Given the description of an element on the screen output the (x, y) to click on. 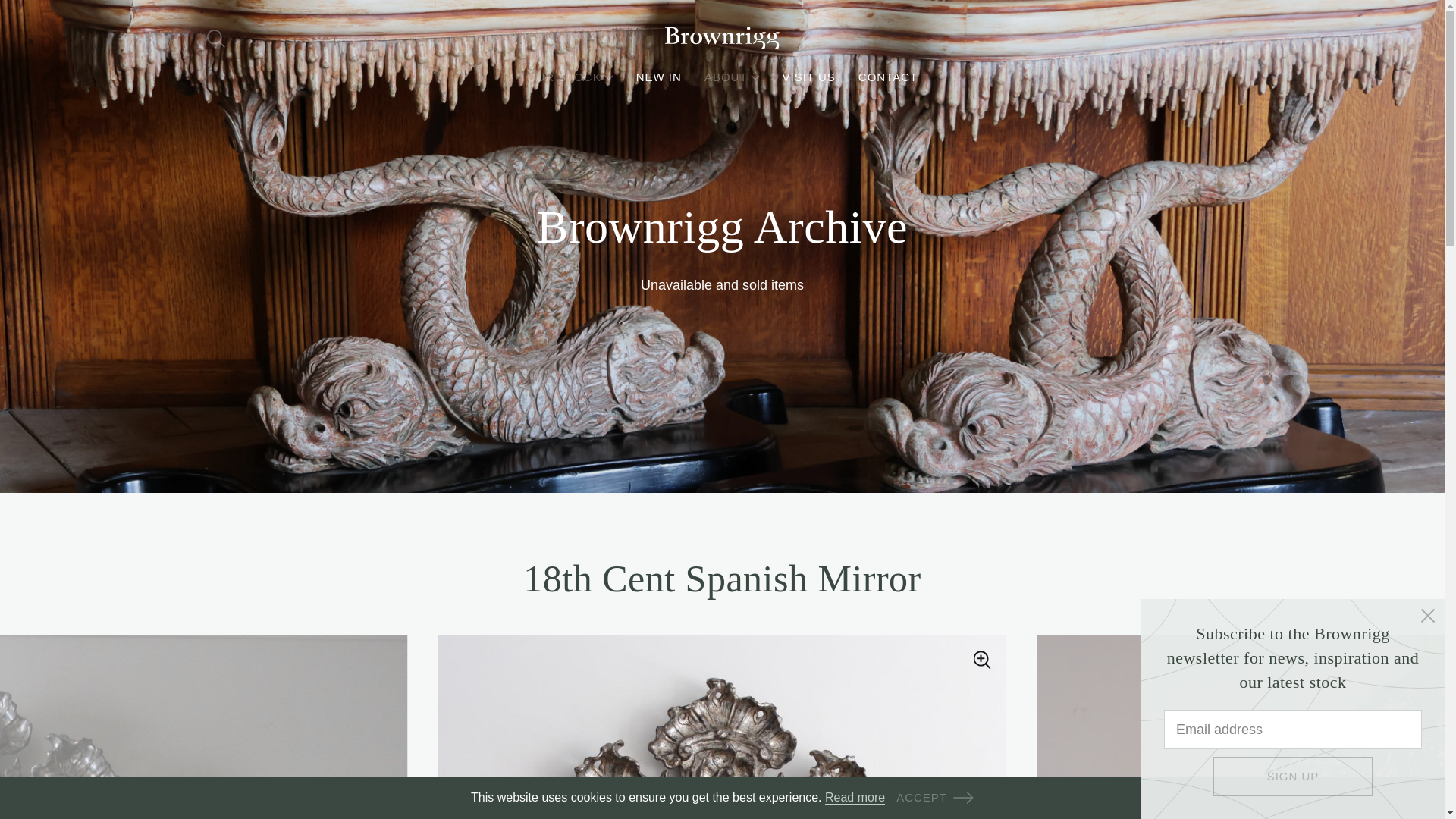
CONTACT (888, 77)
OUR STOCK (569, 77)
VISIT US (809, 77)
ABOUT (732, 77)
NEW IN (658, 77)
Brownrigg Interiors (720, 37)
